Given the description of an element on the screen output the (x, y) to click on. 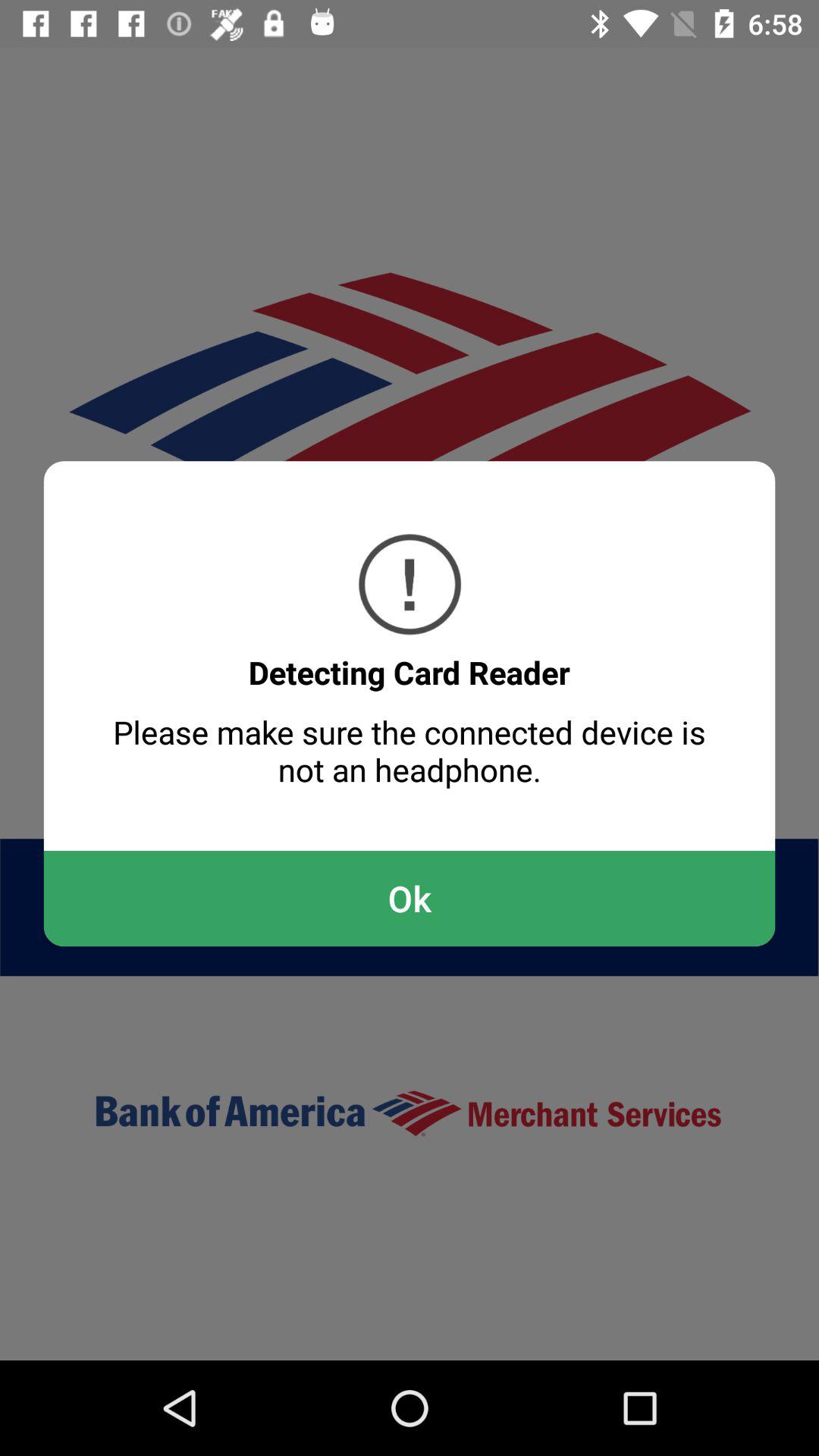
launch icon below the please make sure item (409, 898)
